Given the description of an element on the screen output the (x, y) to click on. 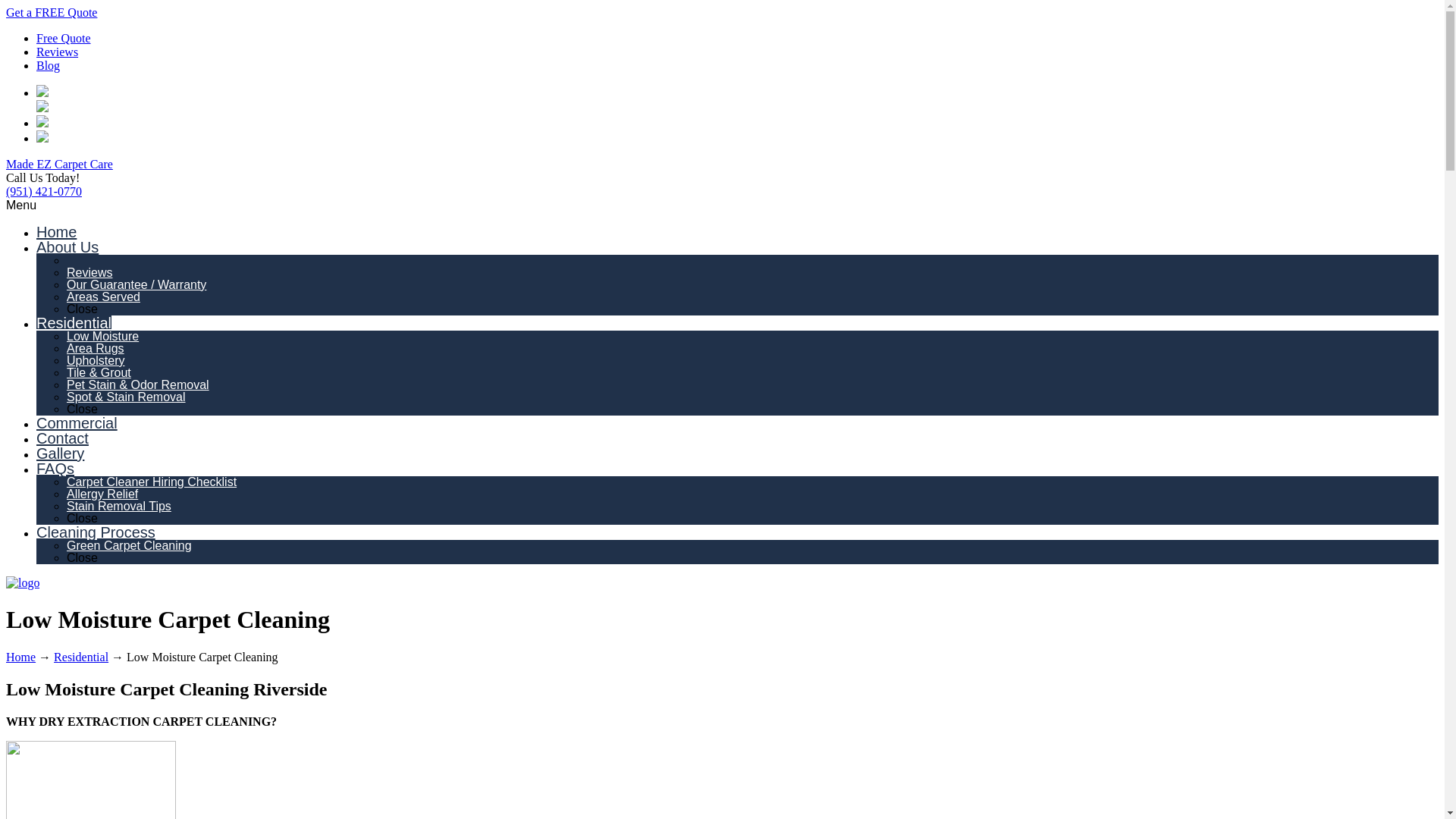
Stain Removal Tips (118, 505)
Upholstery (94, 359)
Reviews (57, 51)
Get a FREE Quote (51, 11)
Made EZ Carpet Care (59, 164)
Yelp (42, 107)
Area Rugs (94, 348)
Home (19, 656)
Facebook (42, 123)
Residential (74, 322)
Gallery (60, 453)
Allergy Relief (102, 493)
Residential (80, 656)
YouTube (42, 137)
Areas Served (102, 296)
